Given the description of an element on the screen output the (x, y) to click on. 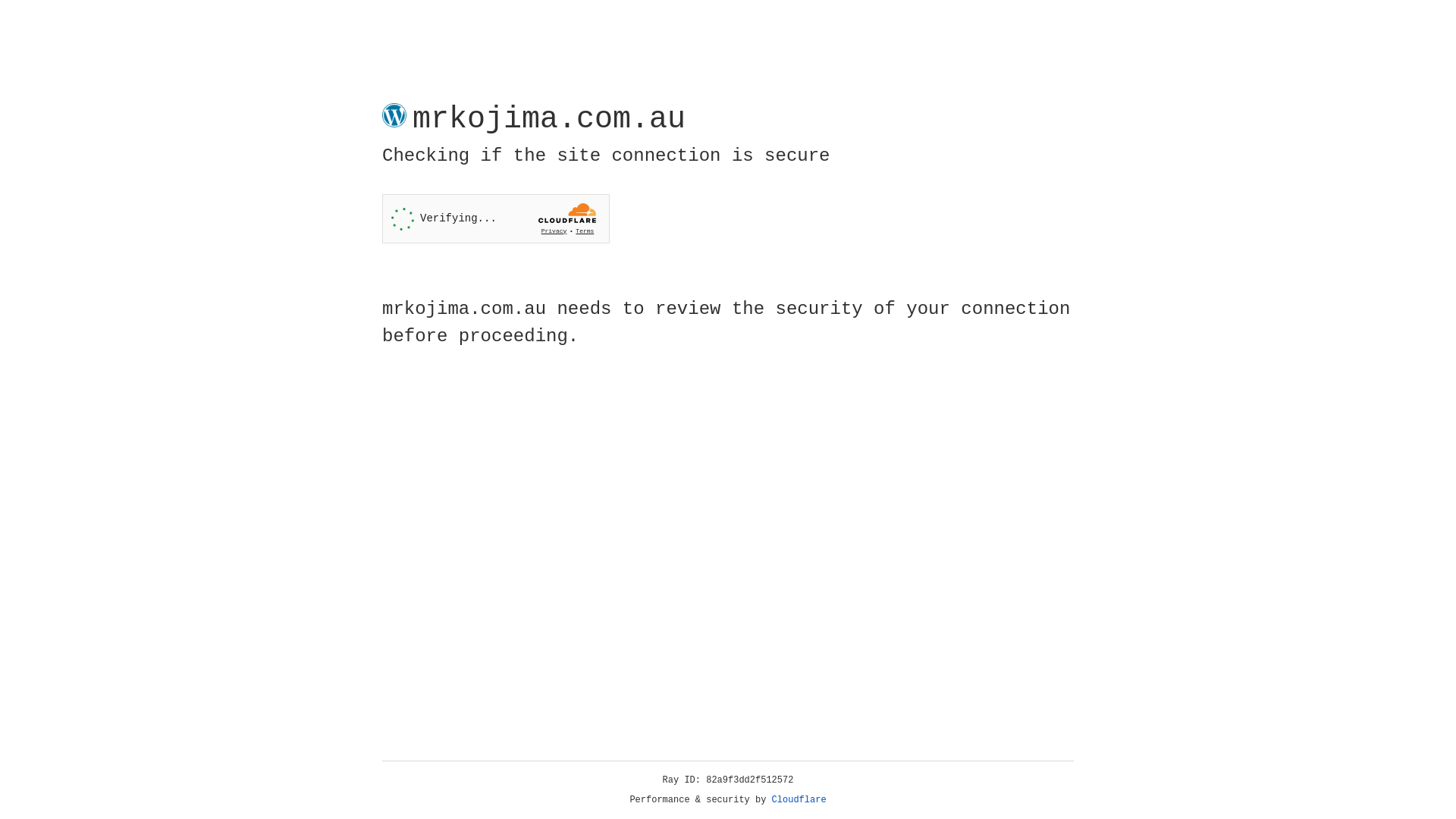
Cloudflare Element type: text (798, 799)
Widget containing a Cloudflare security challenge Element type: hover (495, 218)
